Given the description of an element on the screen output the (x, y) to click on. 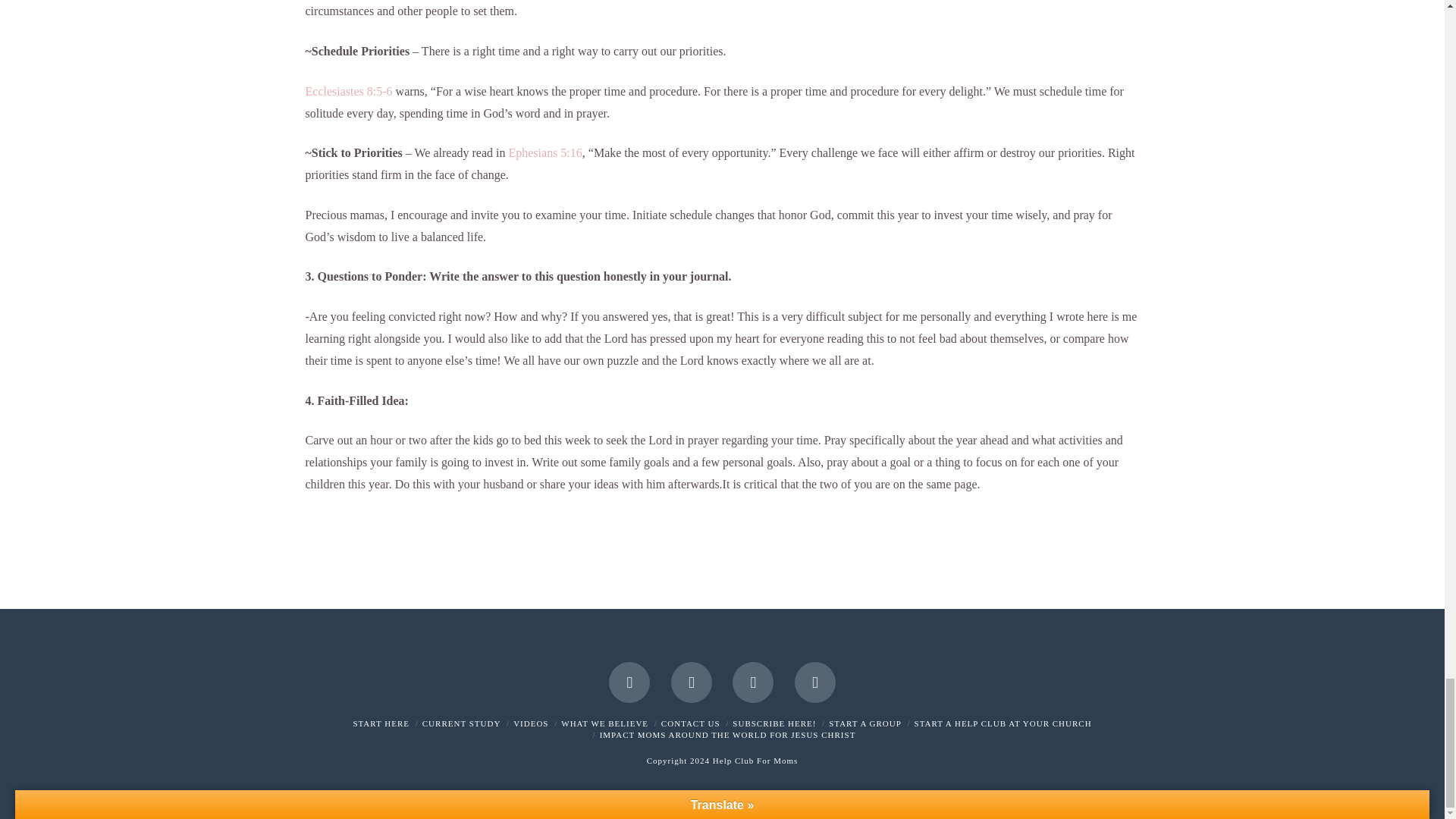
Pinterest (814, 681)
Facebook (628, 681)
Ephesians 5:16 (544, 152)
Ecclesiastes 8:5-6 (347, 91)
YouTube (691, 681)
Instagram (752, 681)
